Given the description of an element on the screen output the (x, y) to click on. 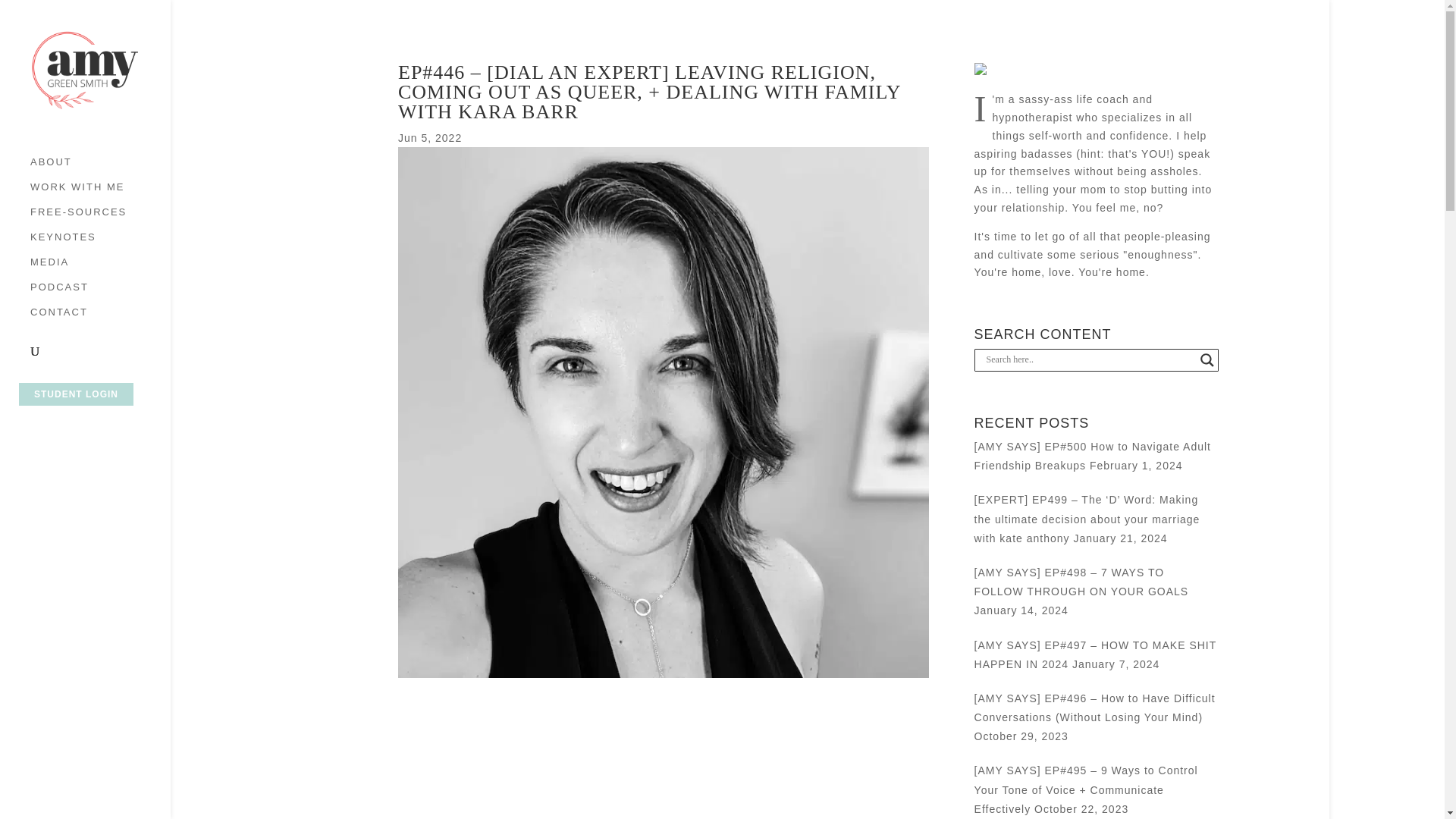
Kara for post (662, 674)
CONTACT (100, 319)
STUDENT LOGIN (75, 394)
ABOUT (100, 169)
KEYNOTES (100, 244)
PODCAST (100, 294)
WORK WITH ME (100, 194)
Embed Player (662, 749)
FREE-SOURCES (100, 219)
MEDIA (100, 269)
